Given the description of an element on the screen output the (x, y) to click on. 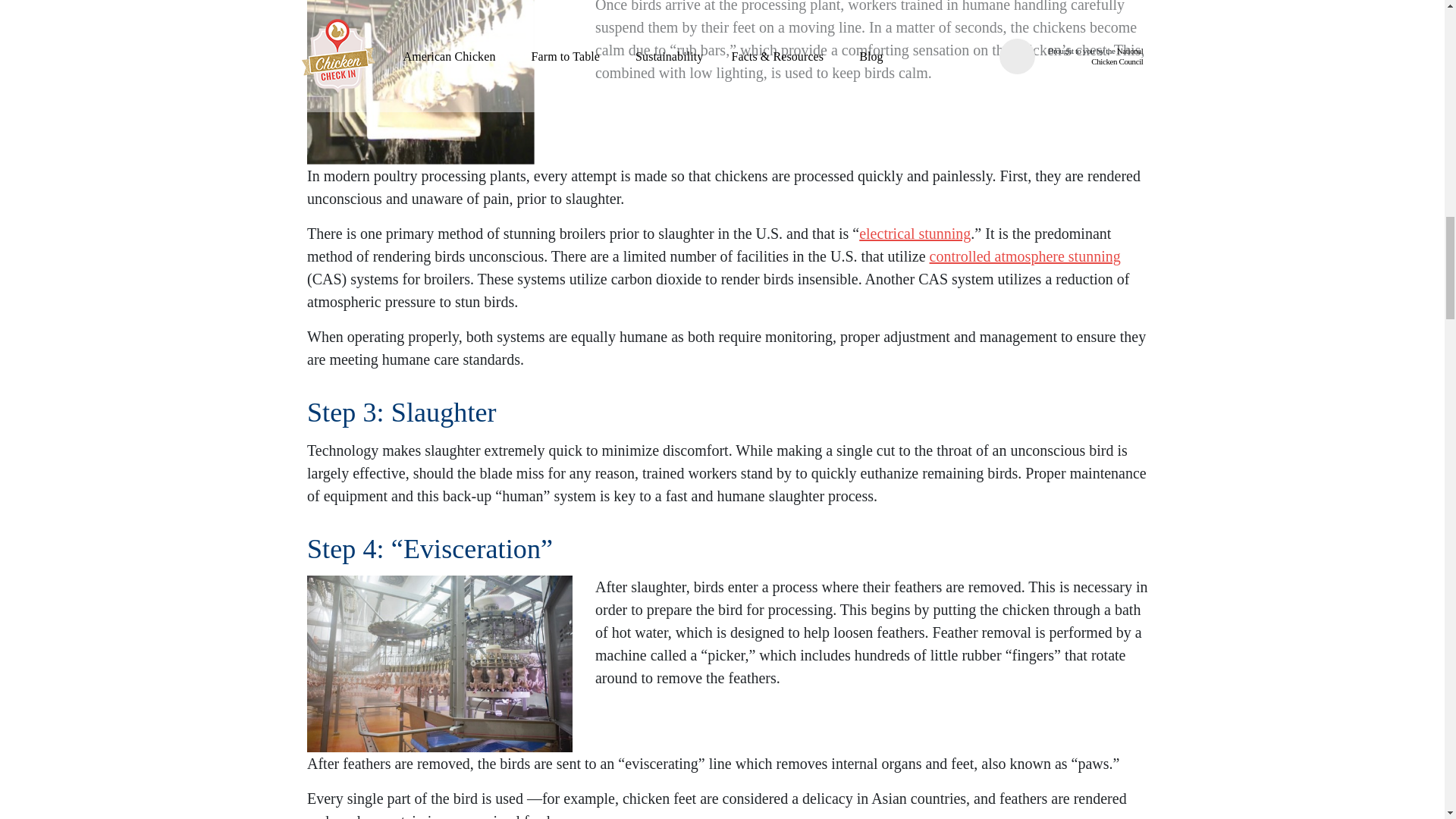
LIne Speed FAQ 1 (439, 663)
electrical stunning (915, 233)
stunning chickens (420, 82)
controlled atmosphere stunning (1025, 256)
